Given the description of an element on the screen output the (x, y) to click on. 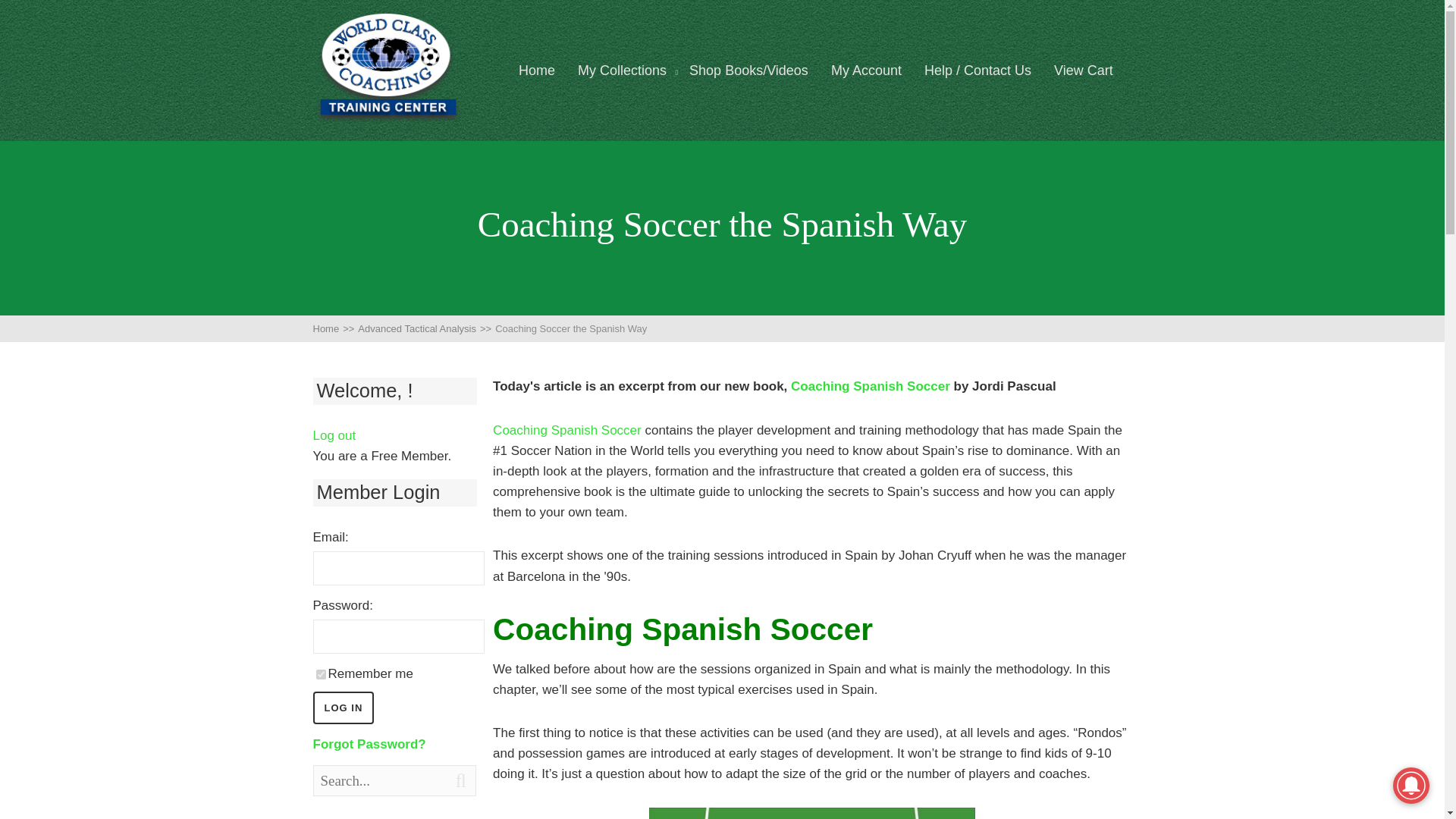
Log out (334, 435)
Logout (334, 435)
Log In (343, 707)
Log In (343, 707)
Coaching Spanish Soccer (567, 430)
Coaching Spanish Soccer (870, 386)
My Collections (622, 70)
View Cart (1083, 70)
Home (536, 70)
My Account (866, 70)
forever (319, 674)
Forgot Password? (369, 744)
